Given the description of an element on the screen output the (x, y) to click on. 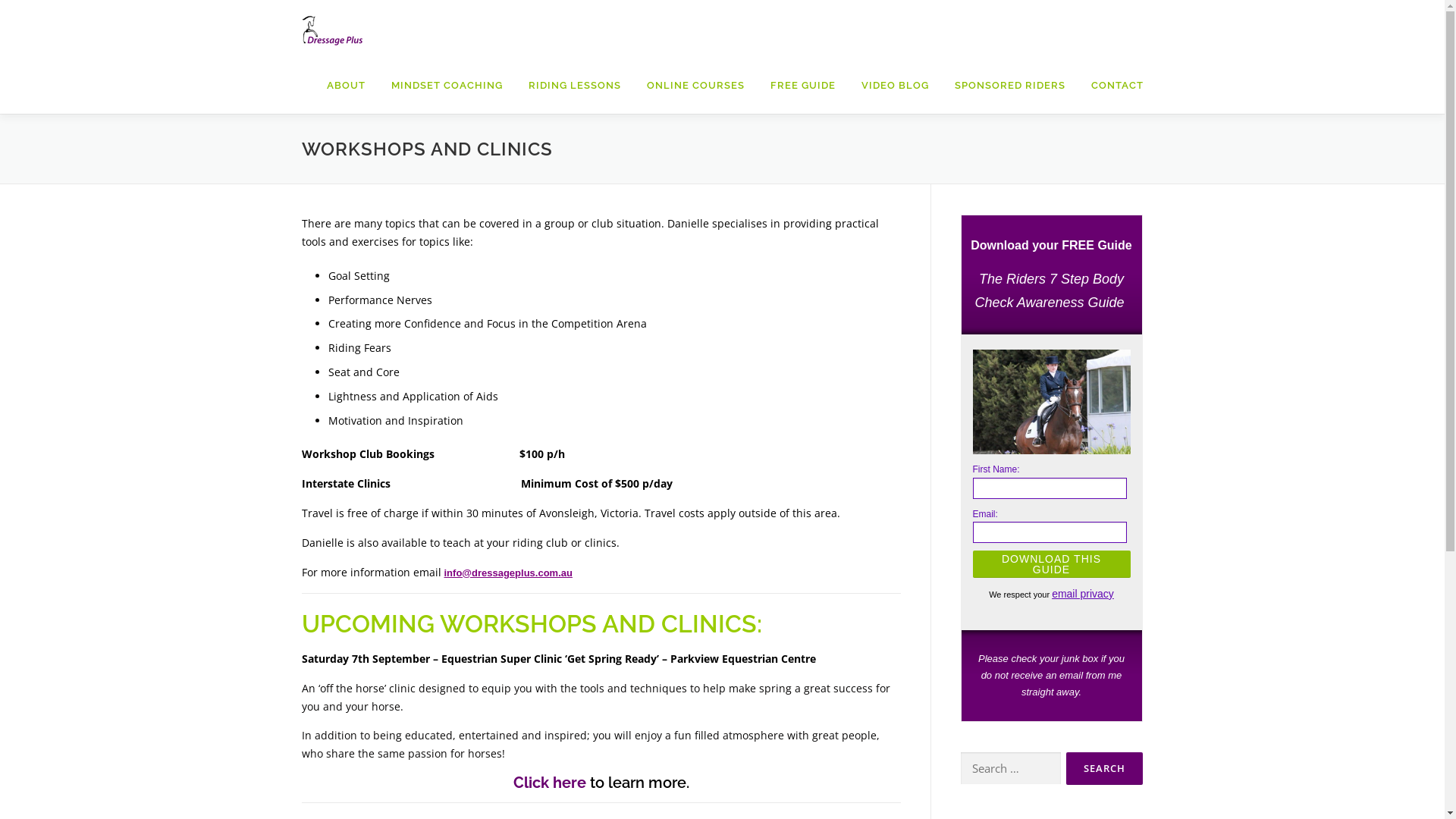
Search Element type: text (1104, 768)
Download This Guide Element type: text (1050, 563)
Click here Element type: text (548, 782)
VIDEO BLOG Element type: text (894, 84)
ABOUT Element type: text (345, 84)
MINDSET COACHING Element type: text (445, 84)
ONLINE COURSES Element type: text (695, 84)
SPONSORED RIDERS Element type: text (1009, 84)
info@dressageplus.com.au Element type: text (508, 571)
email privacy Element type: text (1082, 593)
RIDING LESSONS Element type: text (574, 84)
FREE GUIDE Element type: text (801, 84)
CONTACT Element type: text (1110, 84)
